Given the description of an element on the screen output the (x, y) to click on. 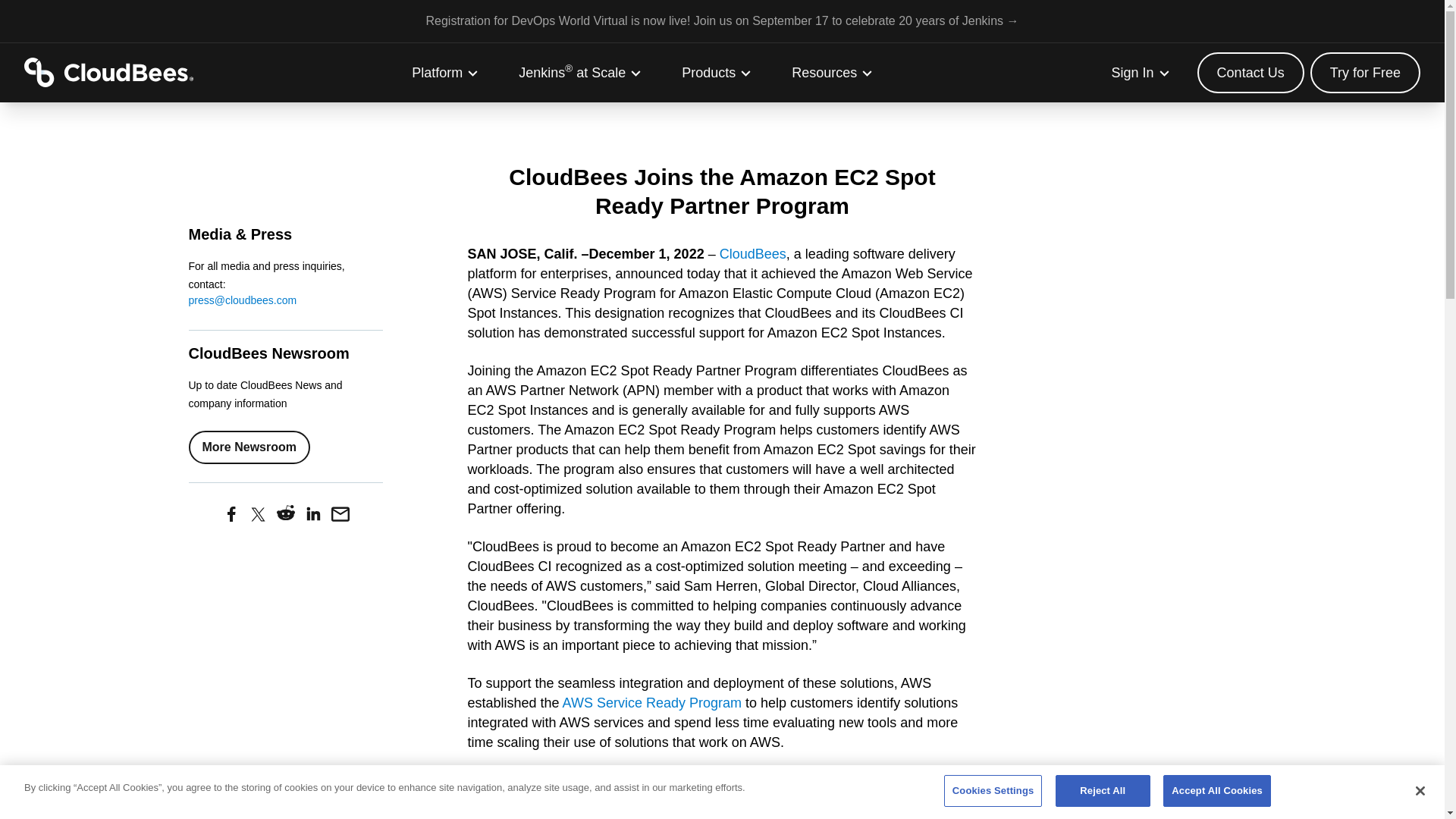
Products (716, 72)
Platform (445, 72)
